Given the description of an element on the screen output the (x, y) to click on. 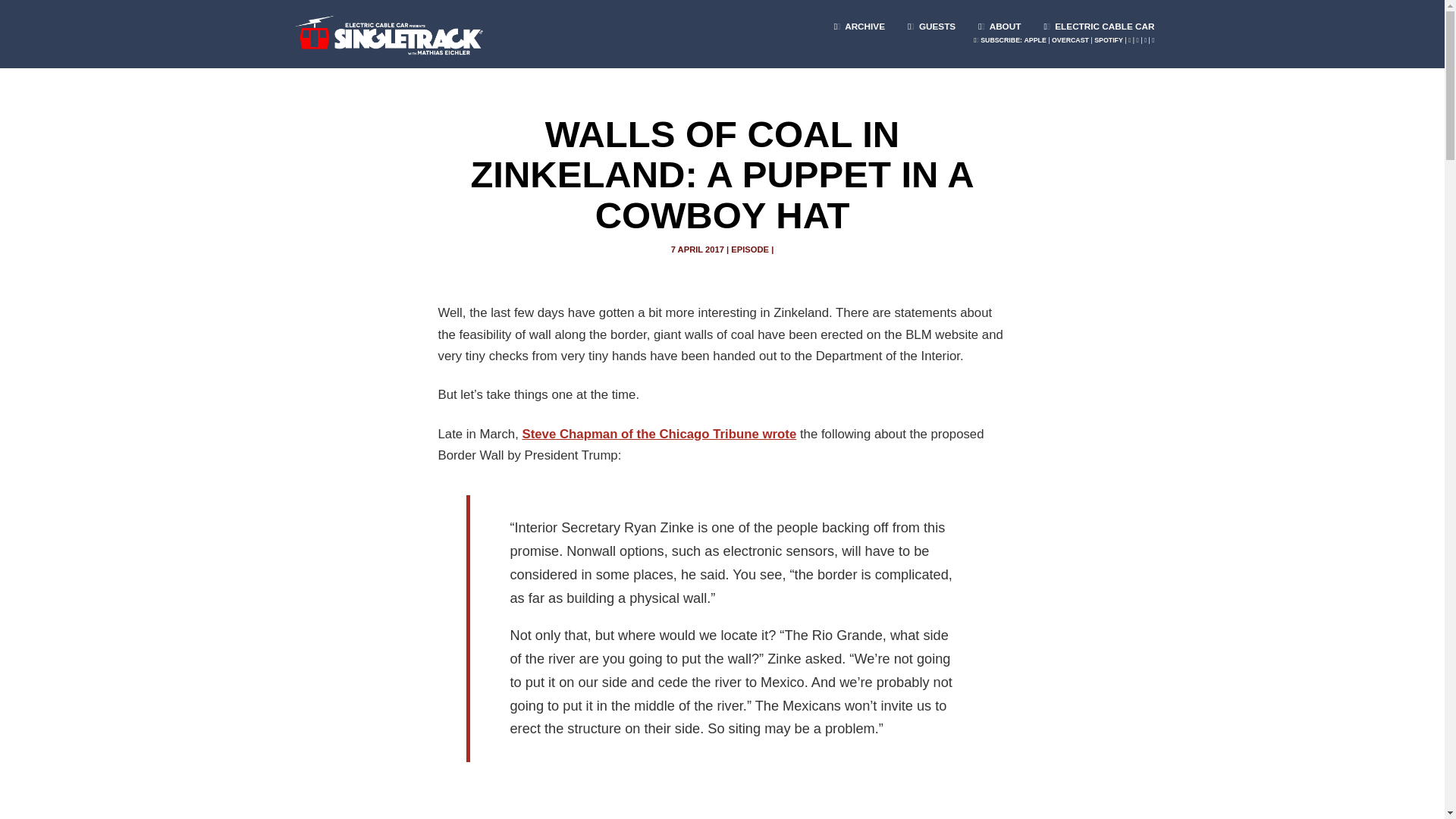
About (999, 20)
OVERCAST (1070, 40)
SPOTIFY (1108, 40)
ARCHIVE (859, 20)
GUESTS (931, 20)
ELECTRIC CABLE CAR (1099, 20)
ABOUT (999, 20)
ECC (1099, 20)
APPLE (1034, 40)
Archive (859, 20)
